Given the description of an element on the screen output the (x, y) to click on. 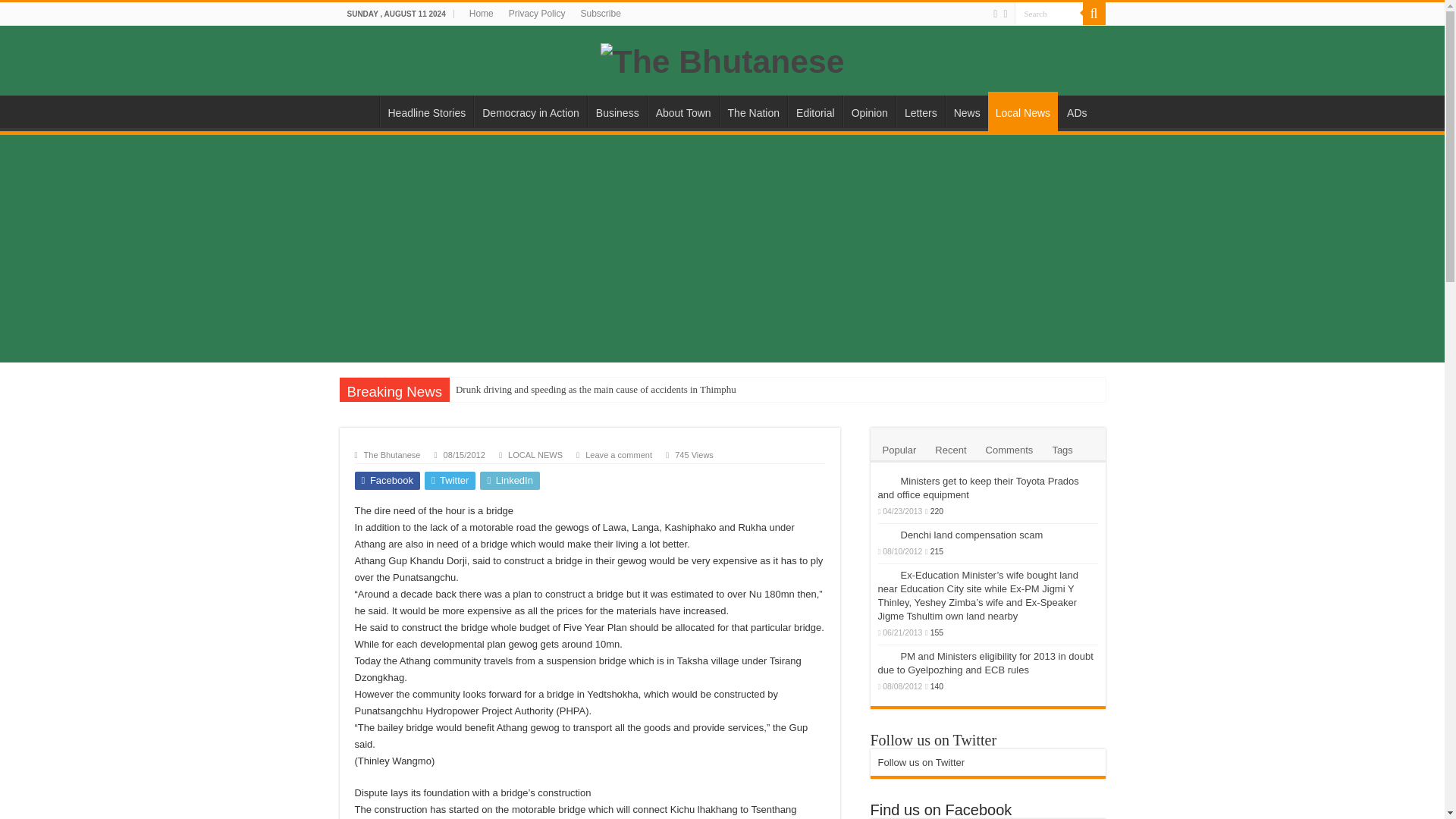
ADs (1076, 111)
Democracy in Action (530, 111)
Local News (1023, 111)
The Bhutanese (392, 454)
Search (1094, 13)
LOCAL NEWS (535, 454)
Twitter (450, 480)
Search (1048, 13)
Business (617, 111)
